Given the description of an element on the screen output the (x, y) to click on. 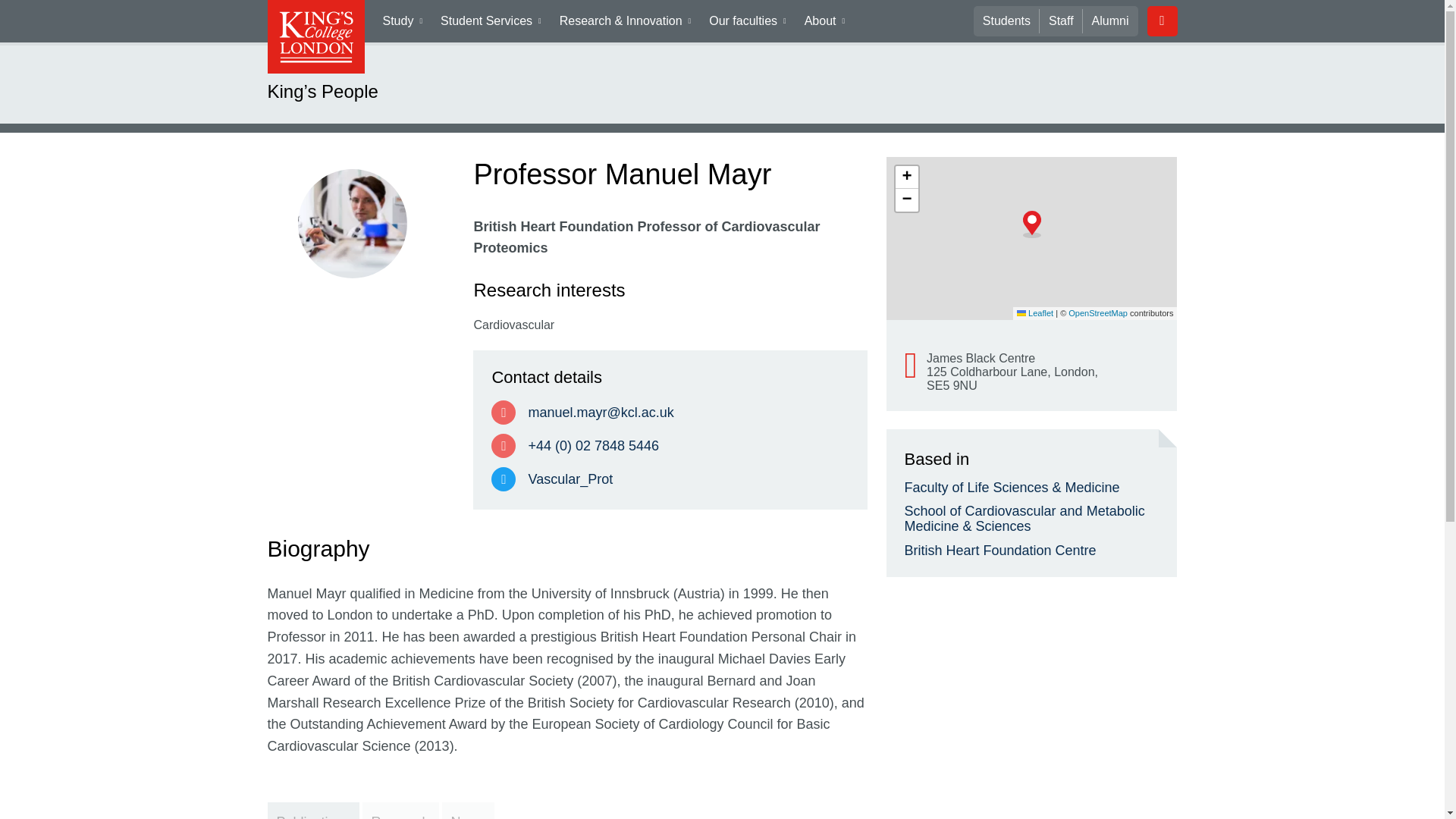
Zoom out (906, 200)
Zoom in (906, 177)
A JavaScript library for interactive maps (1034, 312)
